Given the description of an element on the screen output the (x, y) to click on. 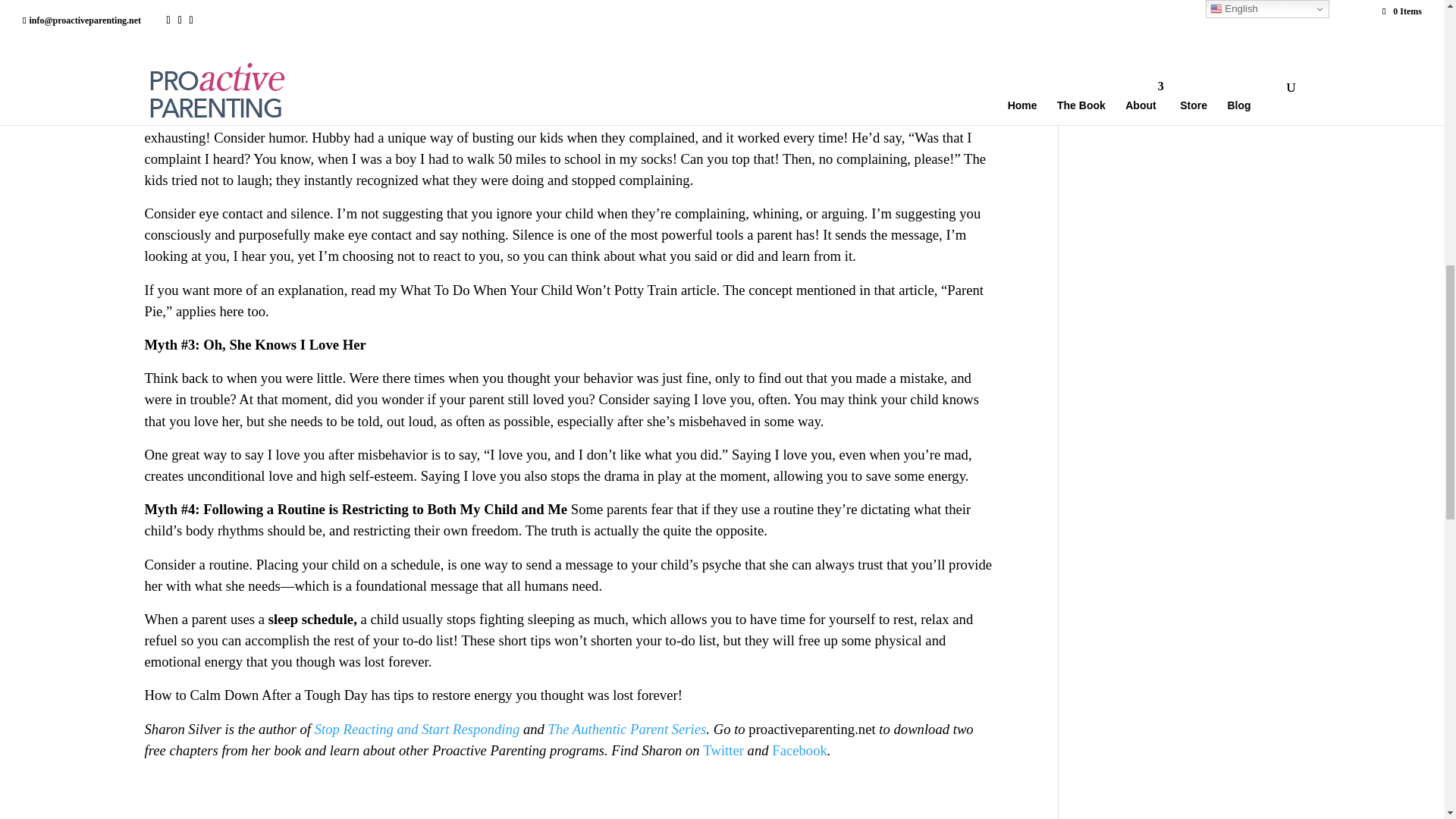
The (560, 729)
How to Calm Down After a Tough Day (255, 694)
Facebook (799, 750)
proactiveparenting.net (811, 729)
Stop Reacting and Start Responding (416, 729)
Twitter (723, 750)
Authentic Parent Series (639, 729)
